Given the description of an element on the screen output the (x, y) to click on. 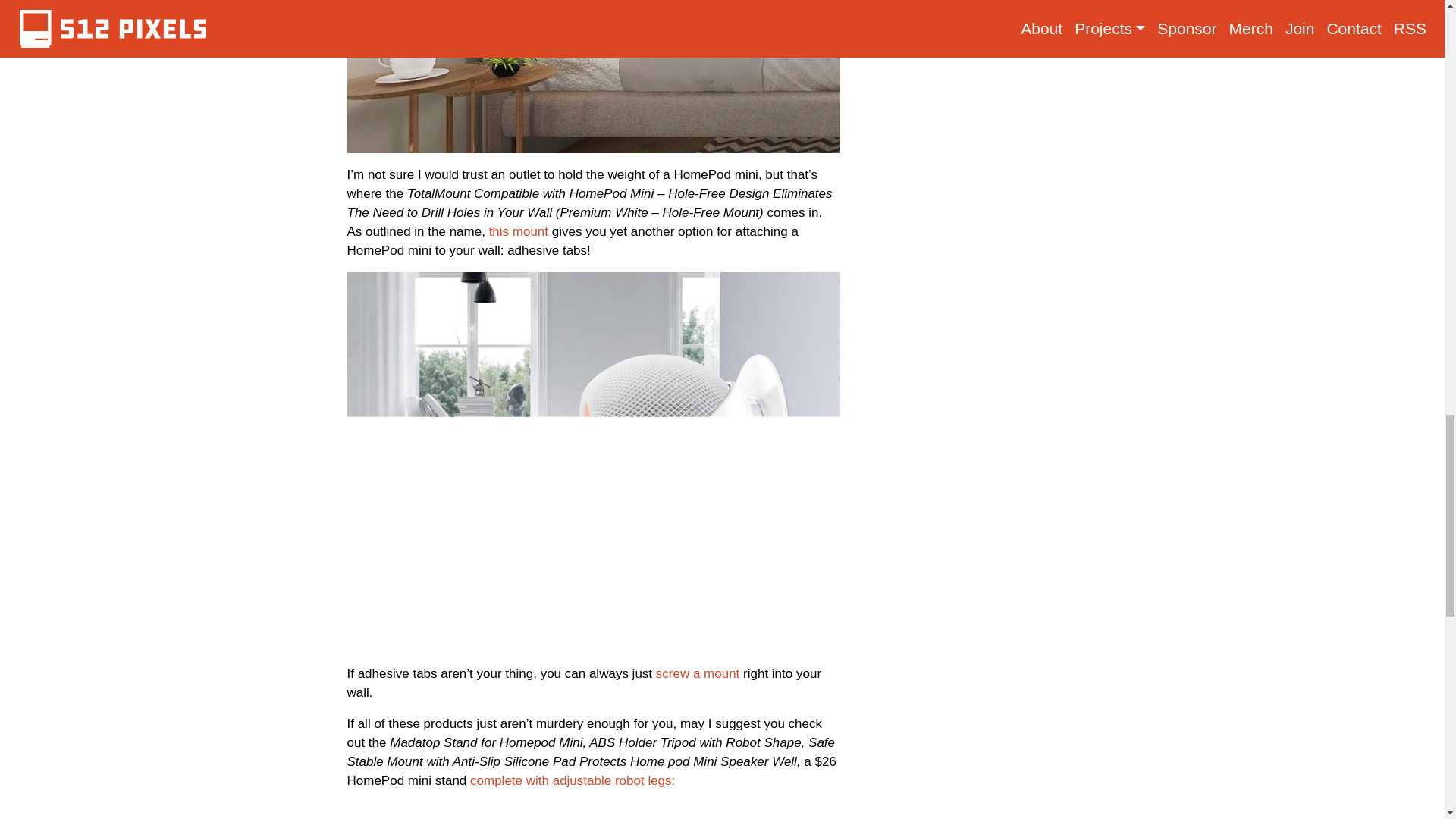
this mount (518, 231)
screw a mount (697, 673)
complete with adjustable robot legs: (572, 780)
